Given the description of an element on the screen output the (x, y) to click on. 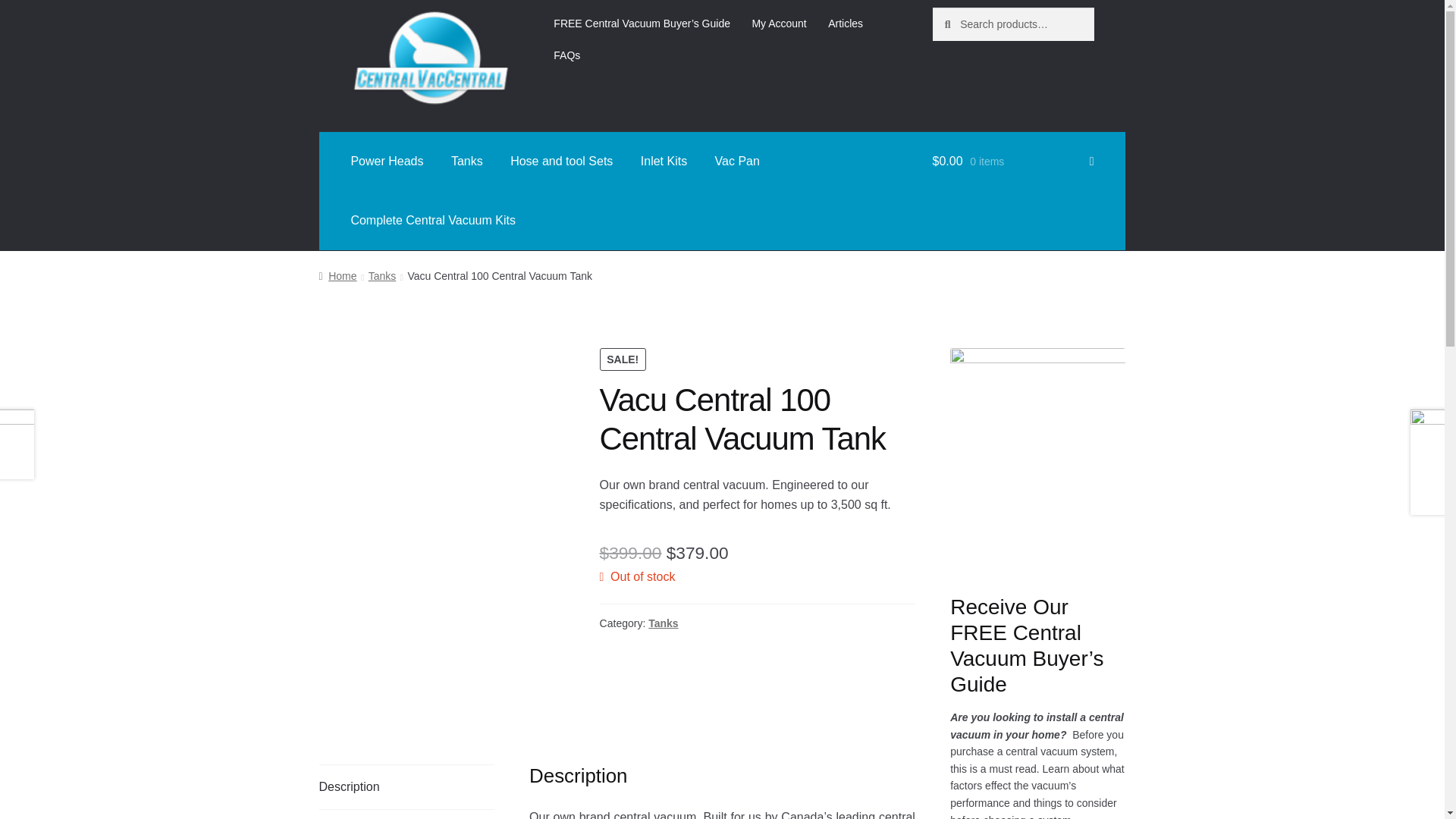
Complete Central Vacuum Kits (432, 220)
My Account (778, 23)
Articles (845, 23)
Hose and tool Sets (560, 160)
View your shopping cart (1013, 160)
FAQs (566, 55)
Tanks (467, 160)
Inlet Kits (663, 160)
